Given the description of an element on the screen output the (x, y) to click on. 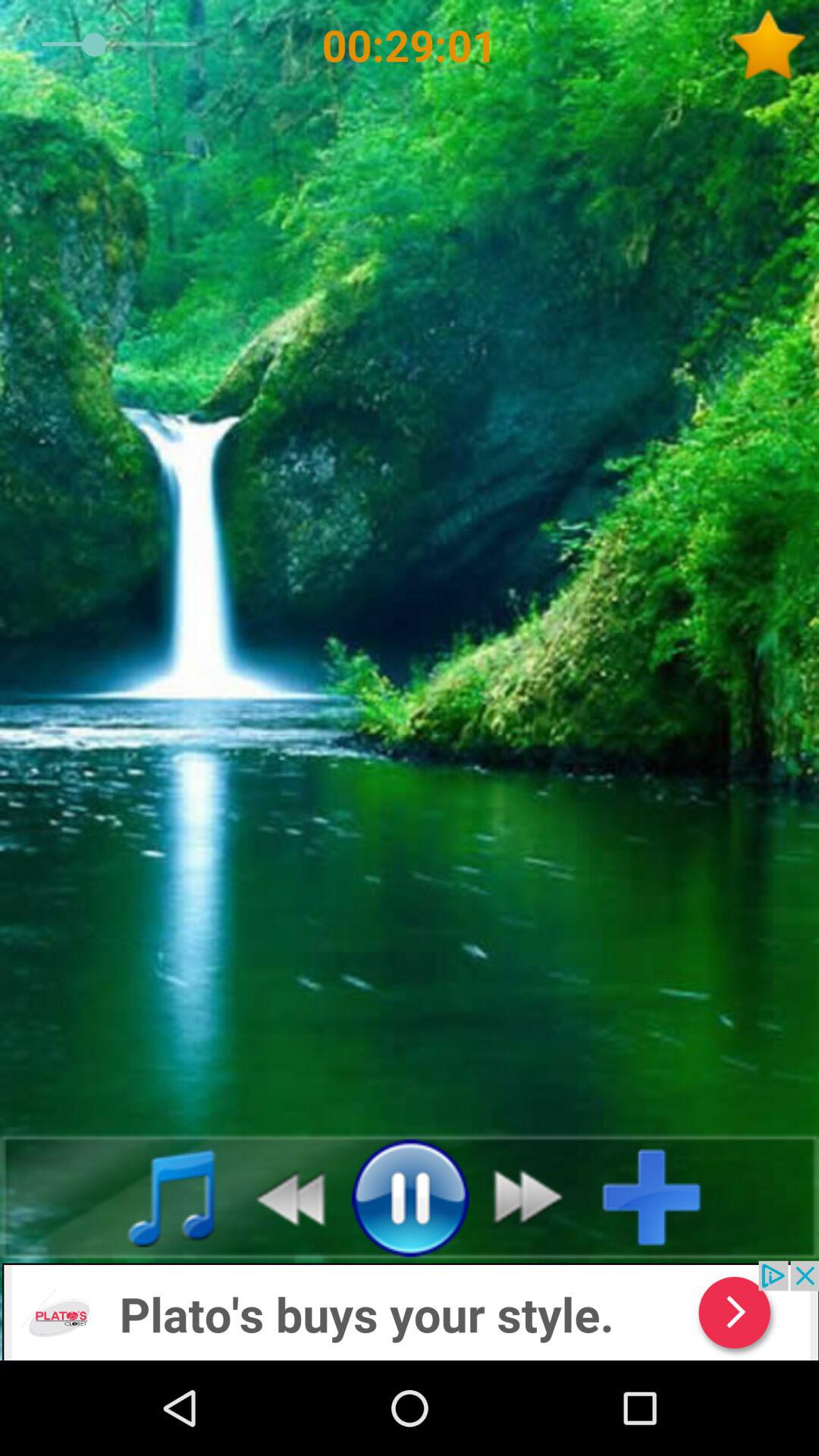
rewind (281, 1196)
